Given the description of an element on the screen output the (x, y) to click on. 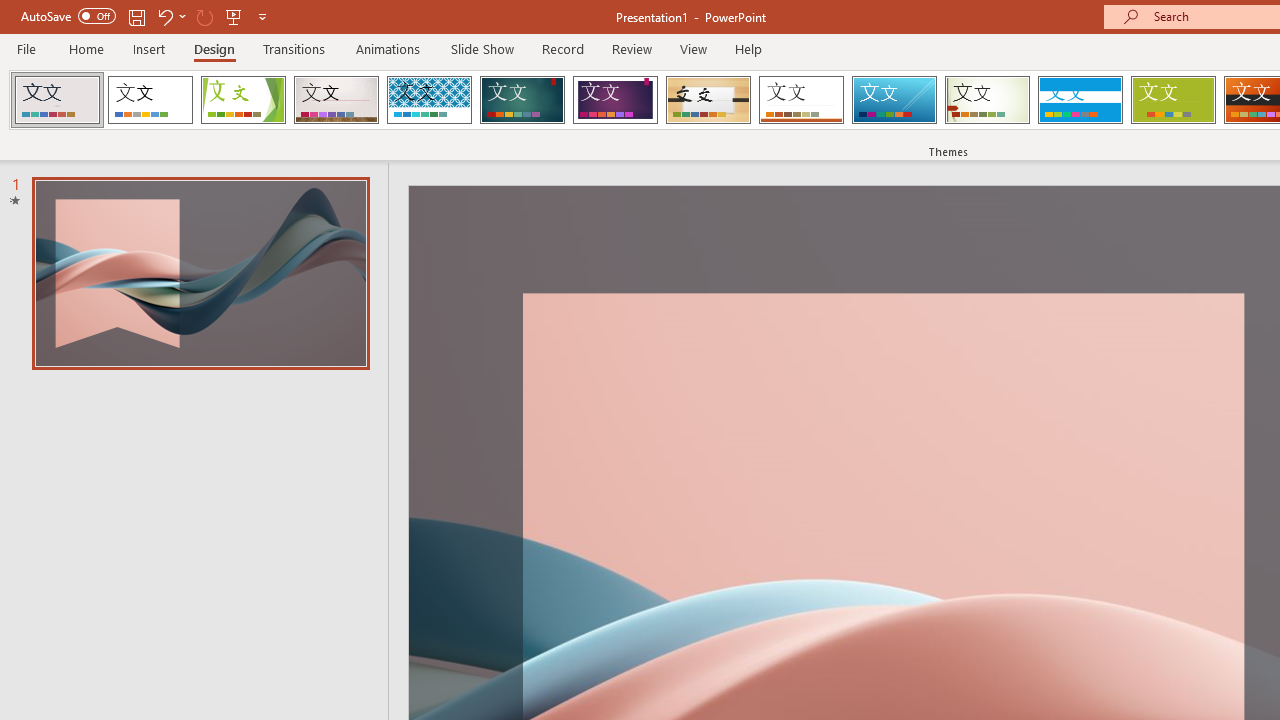
Ion Boardroom (615, 100)
Integral (429, 100)
Facet (243, 100)
AdornVTI (57, 100)
